Given the description of an element on the screen output the (x, y) to click on. 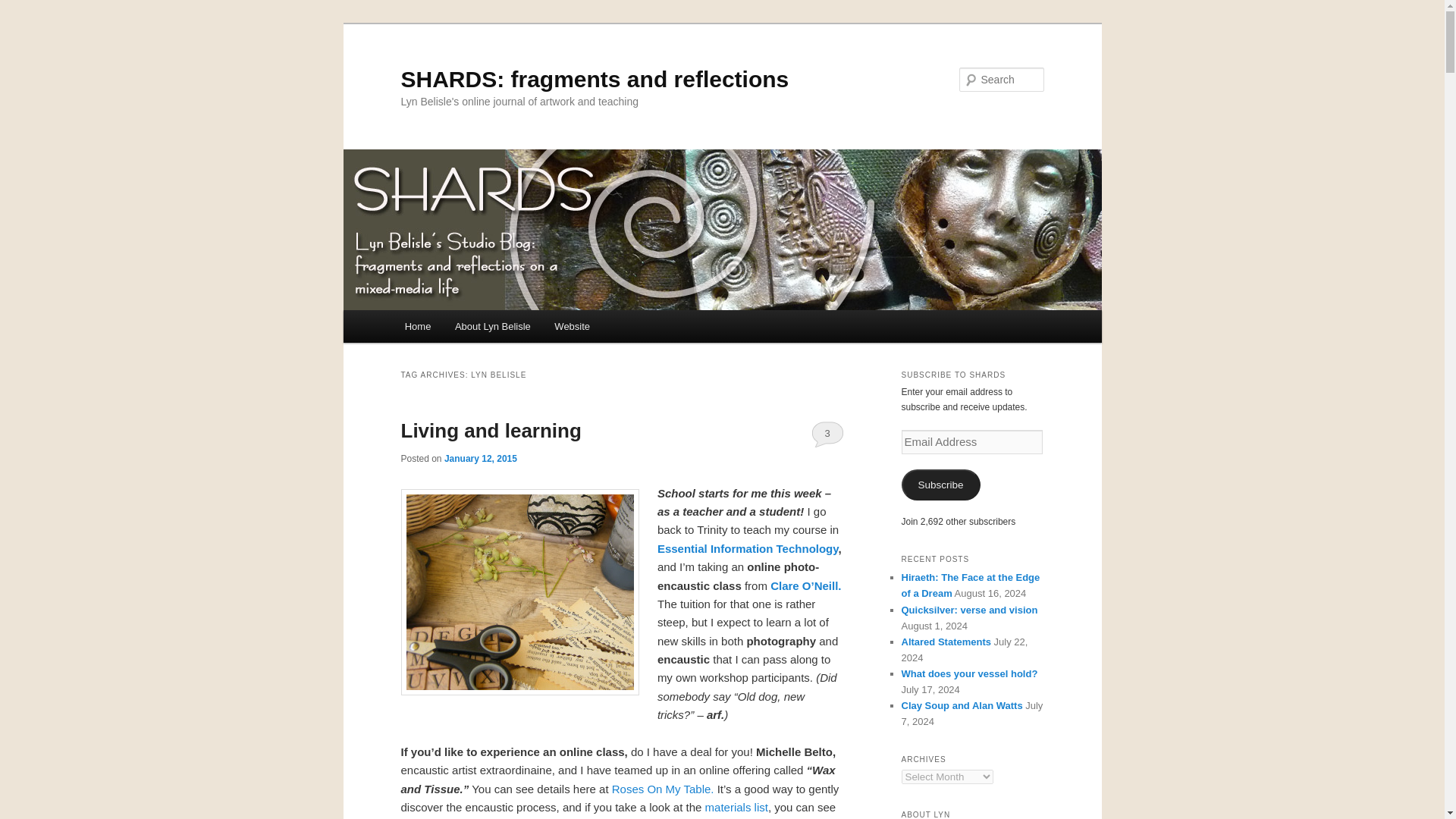
Roses On My Table. (662, 788)
Website (572, 326)
About Lyn Belisle (491, 326)
SHARDS: fragments and reflections (594, 78)
1:47 pm (480, 458)
materials list (736, 807)
Living and learning (490, 430)
January 12, 2015 (480, 458)
3 (827, 433)
Search (24, 8)
